Given the description of an element on the screen output the (x, y) to click on. 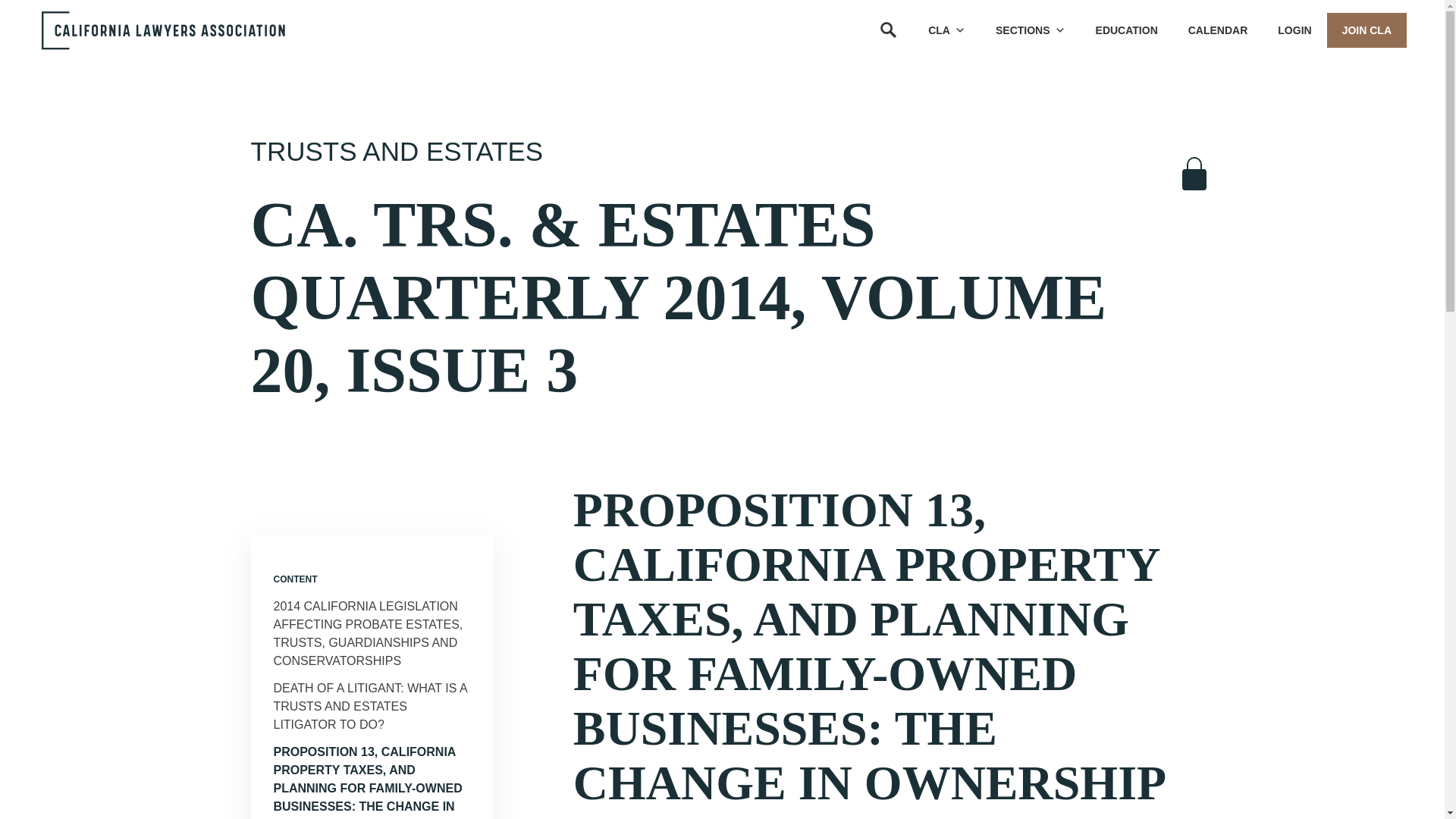
CLA (945, 30)
SECTIONS (1029, 30)
